Given the description of an element on the screen output the (x, y) to click on. 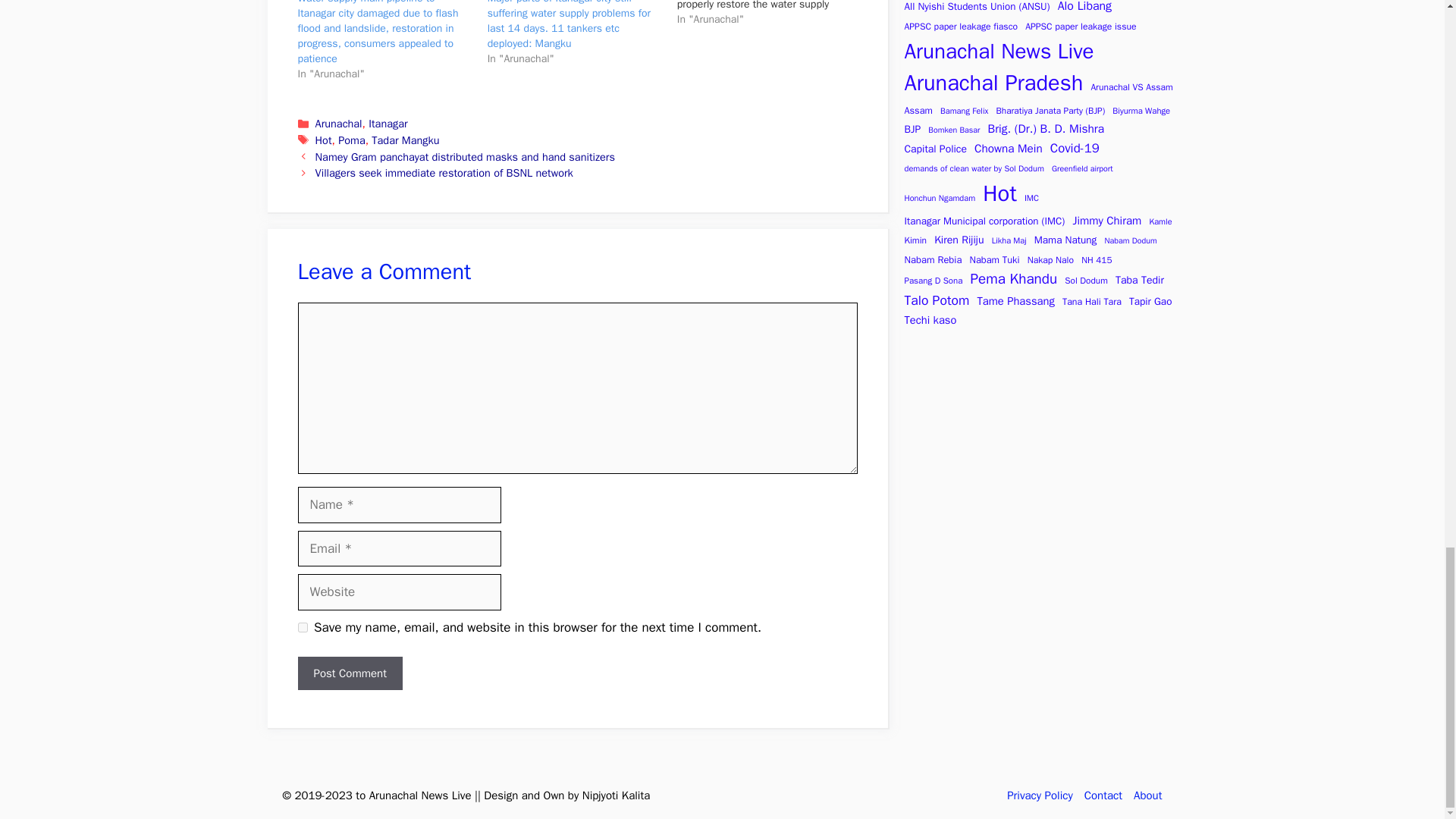
Poma (351, 140)
Villagers seek immediate restoration of BSNL network (444, 172)
Namey Gram panchayat distributed masks and hand sanitizers (464, 156)
Tadar Mangku (405, 140)
Arunachal (338, 123)
yes (302, 627)
Itanagar (387, 123)
Post Comment (349, 673)
